Given the description of an element on the screen output the (x, y) to click on. 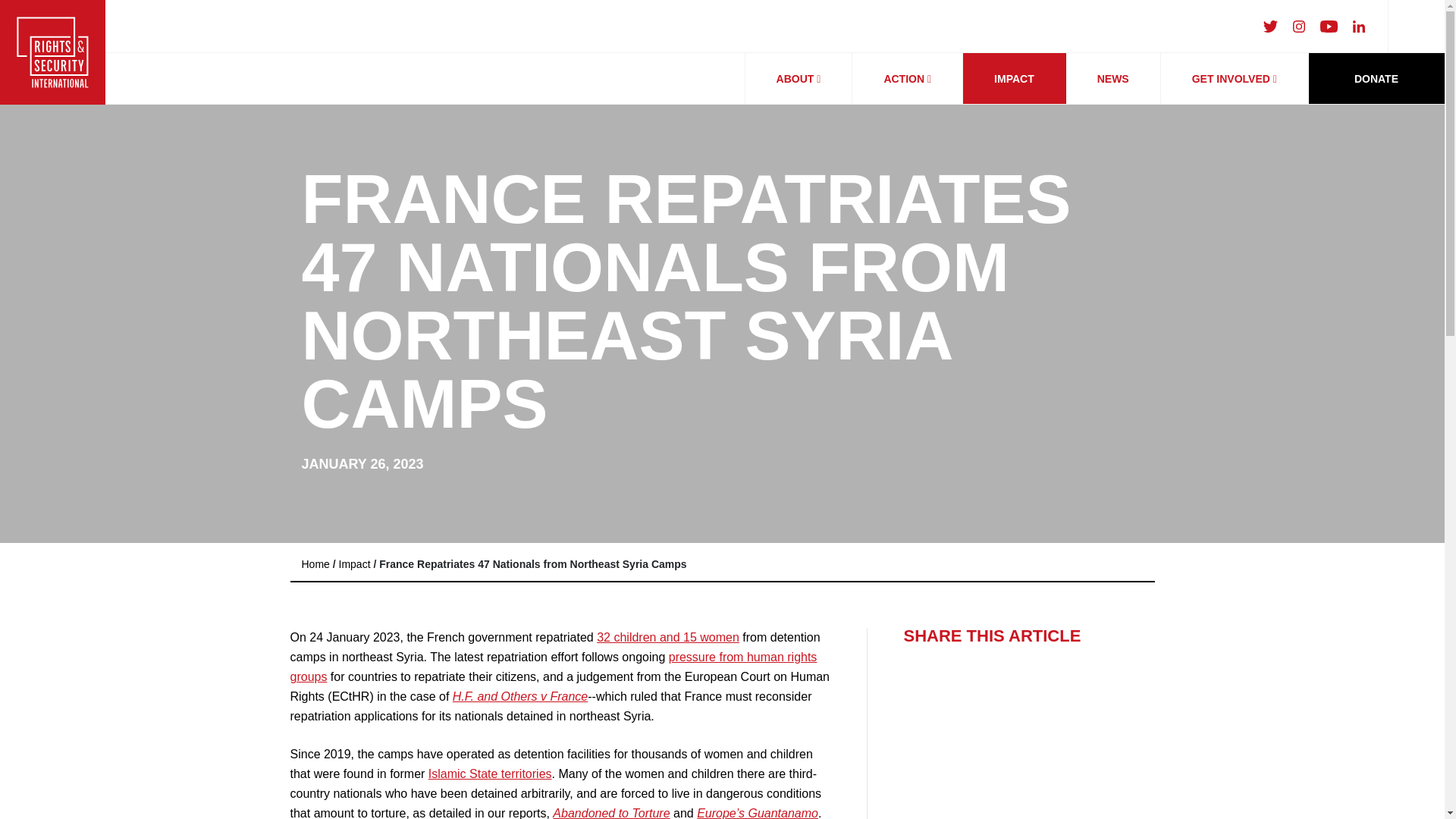
NEWS (1112, 78)
GET INVOLVED (1233, 78)
32 children and 15 women (667, 636)
Impact (355, 563)
Abandoned to Torture (611, 812)
Islamic State territories (489, 773)
DONATE (1375, 78)
Home (315, 563)
H.F. and Others v France (520, 696)
pressure from human rights groups (552, 666)
